Given the description of an element on the screen output the (x, y) to click on. 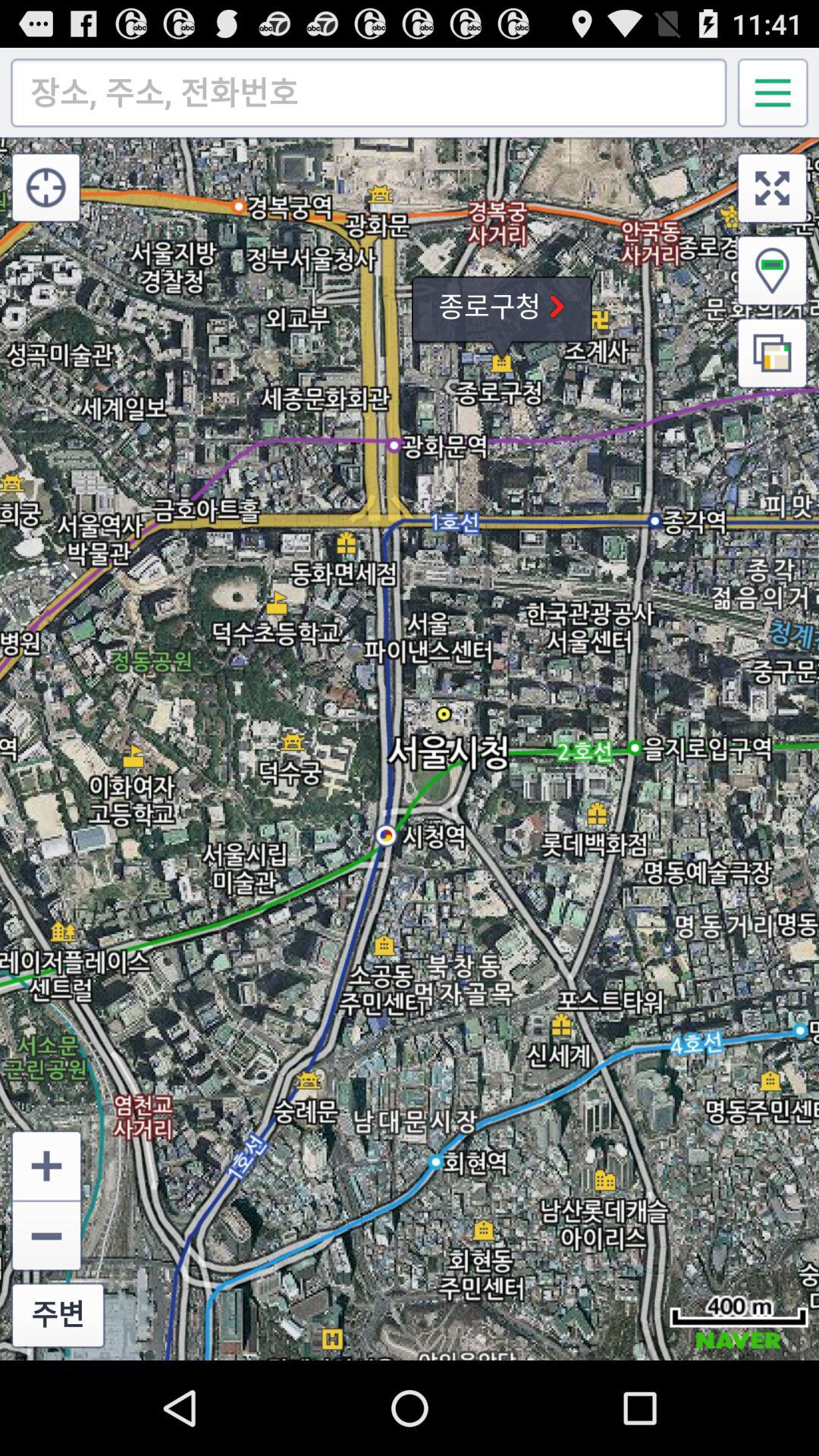
tap icon at the top left corner (45, 187)
